Given the description of an element on the screen output the (x, y) to click on. 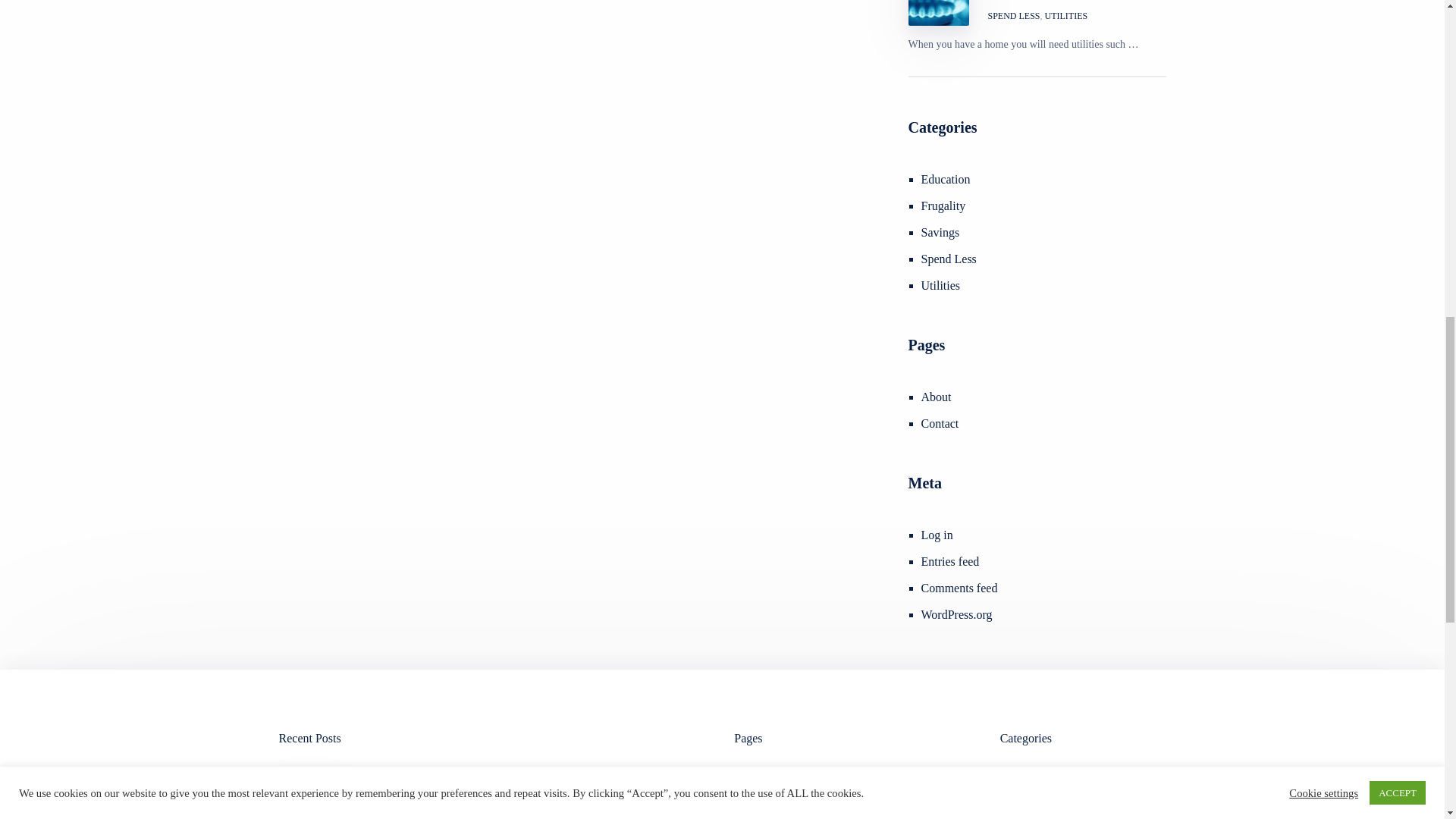
WordPress.org (956, 614)
Education (946, 178)
About (936, 396)
Savings (940, 232)
Contact (940, 422)
SAVINGS (369, 810)
Utilities (940, 285)
SPEND LESS (1014, 15)
UTILITIES (1066, 15)
Entries feed (950, 561)
Comments feed (959, 587)
Spend Less (948, 258)
Frugality (943, 205)
Log in (937, 534)
